Given the description of an element on the screen output the (x, y) to click on. 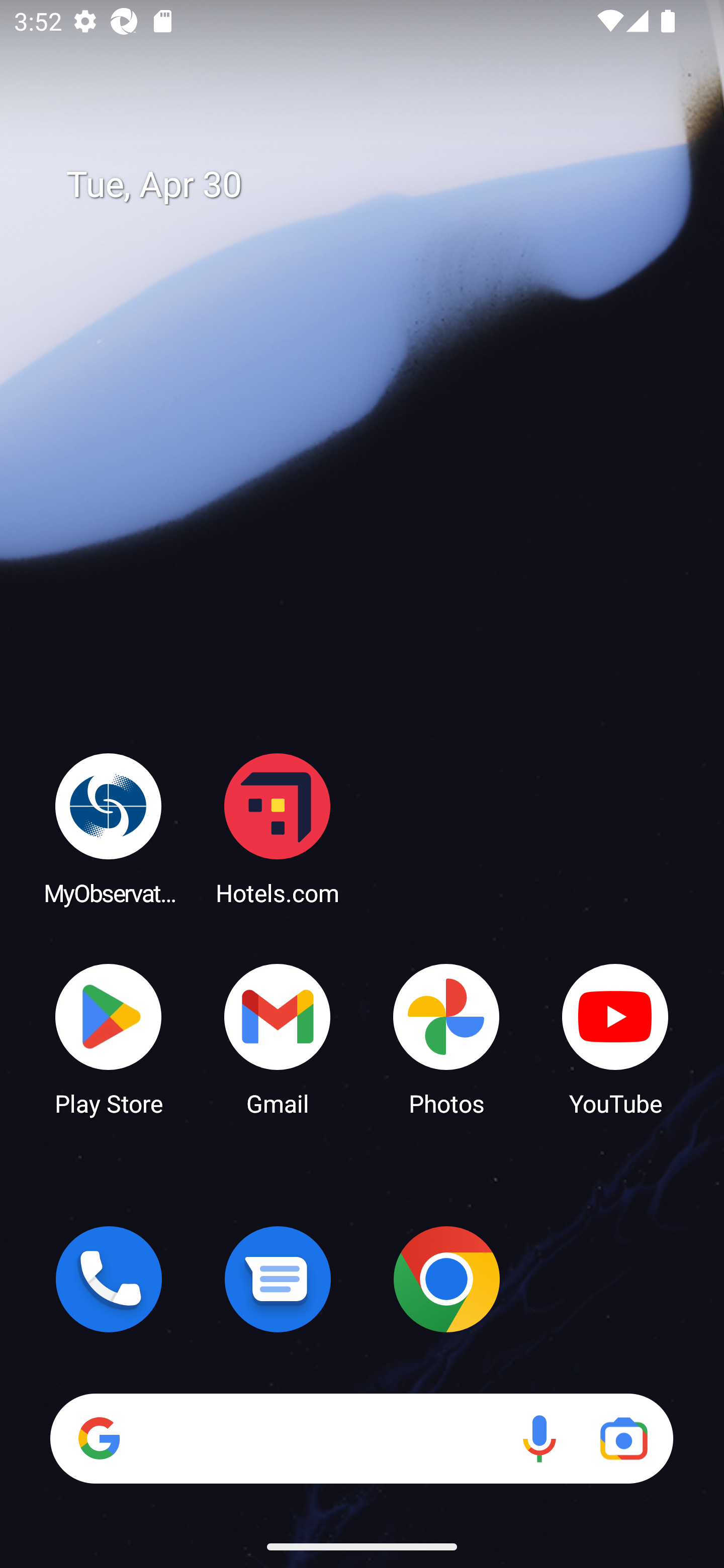
Tue, Apr 30 (375, 184)
MyObservatory (108, 828)
Hotels.com (277, 828)
Play Store (108, 1038)
Gmail (277, 1038)
Photos (445, 1038)
YouTube (615, 1038)
Phone (108, 1279)
Messages (277, 1279)
Chrome (446, 1279)
Voice search (539, 1438)
Google Lens (623, 1438)
